Given the description of an element on the screen output the (x, y) to click on. 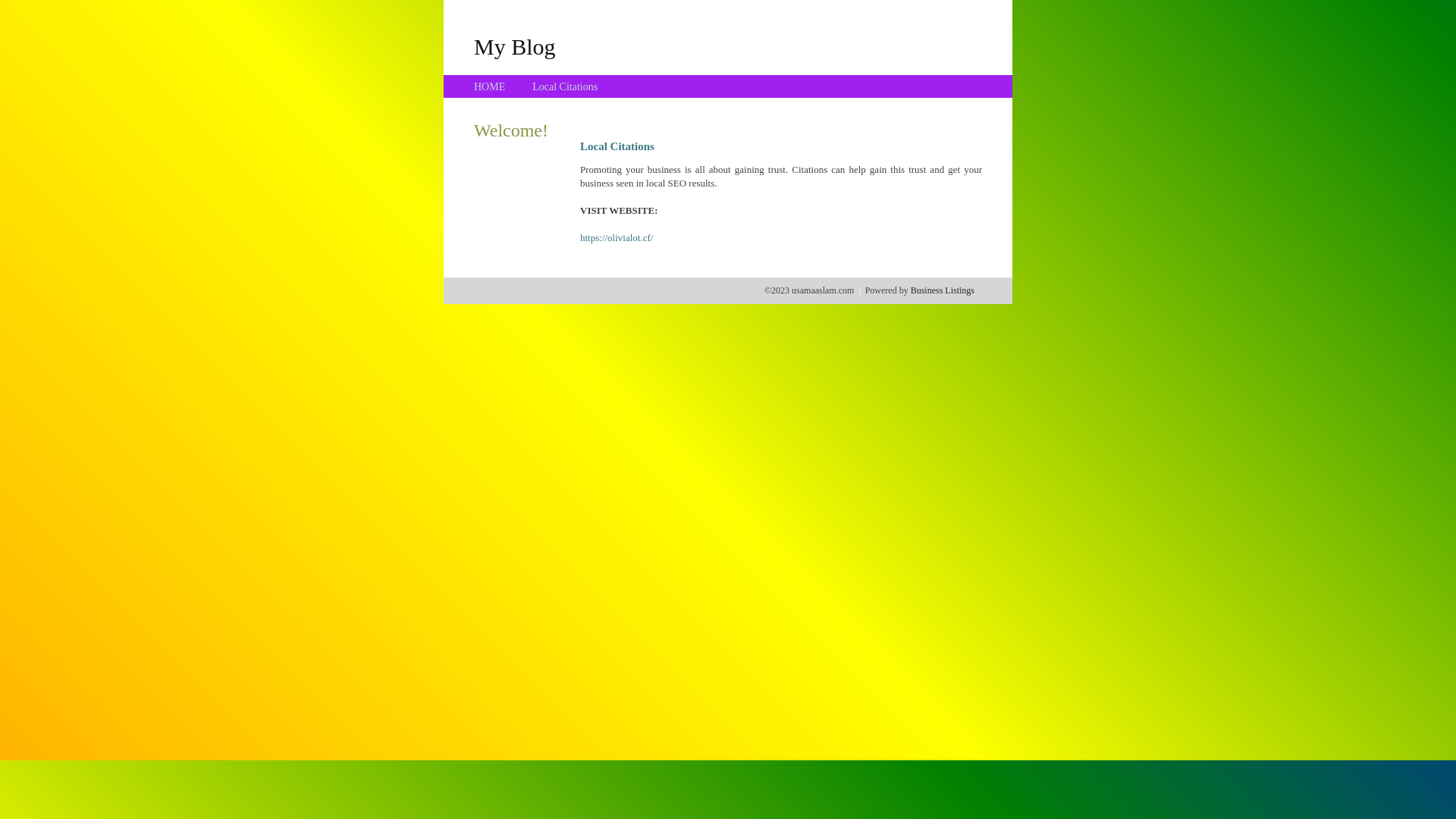
https://olivialot.cf/ Element type: text (616, 237)
Business Listings Element type: text (942, 290)
Local Citations Element type: text (564, 86)
My Blog Element type: text (514, 46)
HOME Element type: text (489, 86)
